Given the description of an element on the screen output the (x, y) to click on. 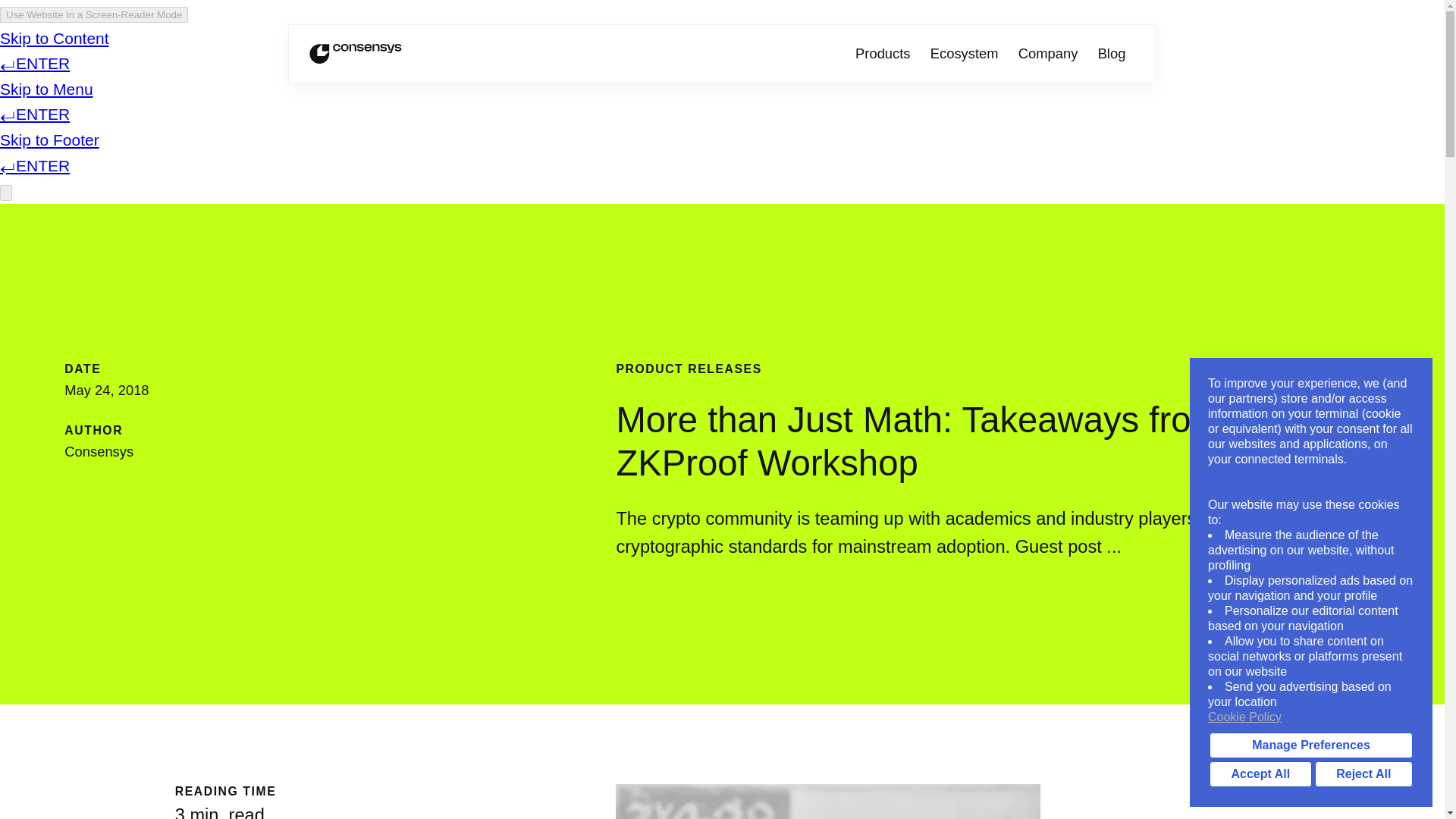
Consensys (355, 53)
PRODUCT RELEASES (688, 369)
Reject All (1363, 774)
Cookie Policy (1310, 717)
Accept All (1260, 774)
Manage Preferences (1310, 745)
